Given the description of an element on the screen output the (x, y) to click on. 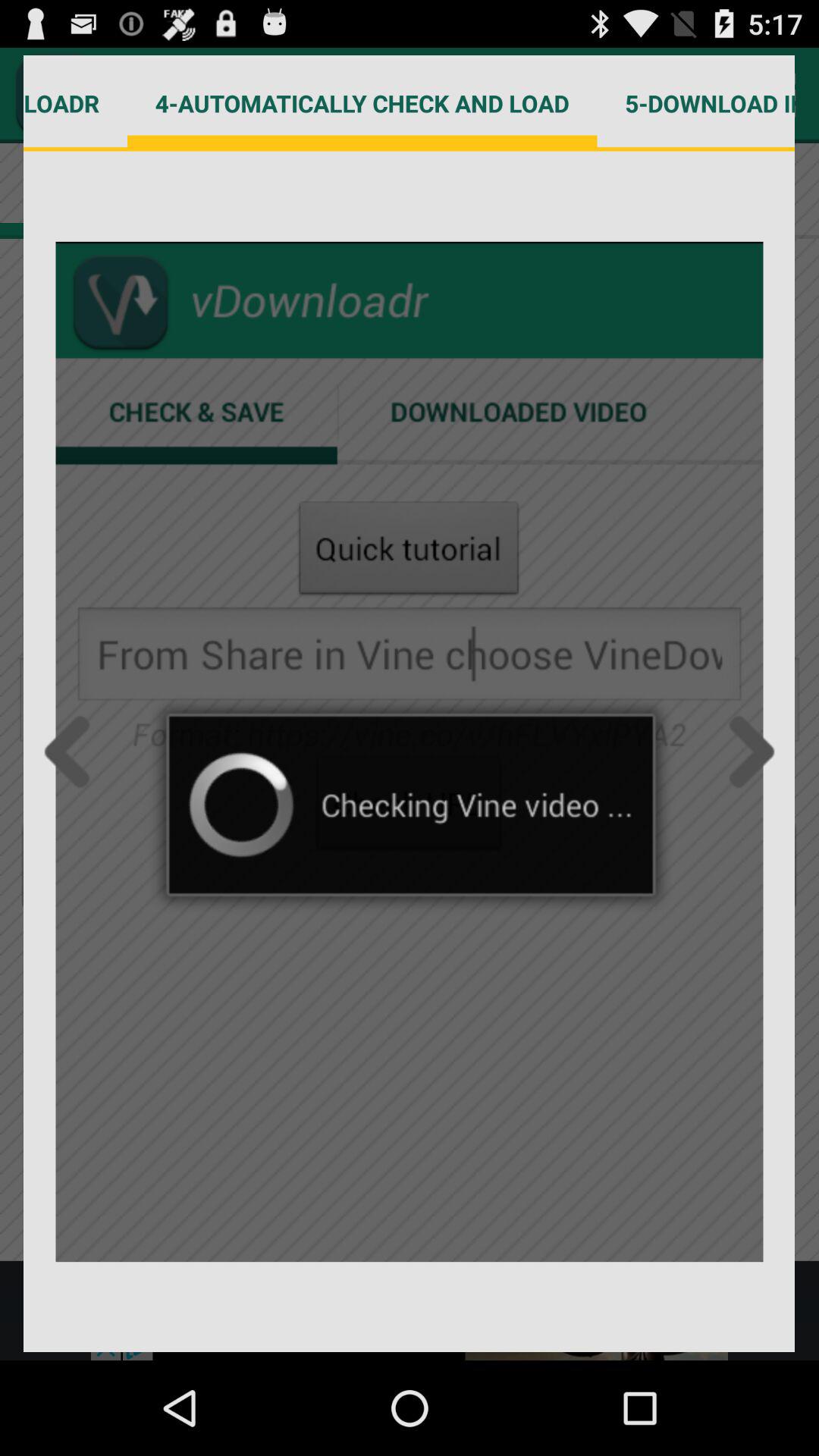
launch the item at the top (362, 103)
